Given the description of an element on the screen output the (x, y) to click on. 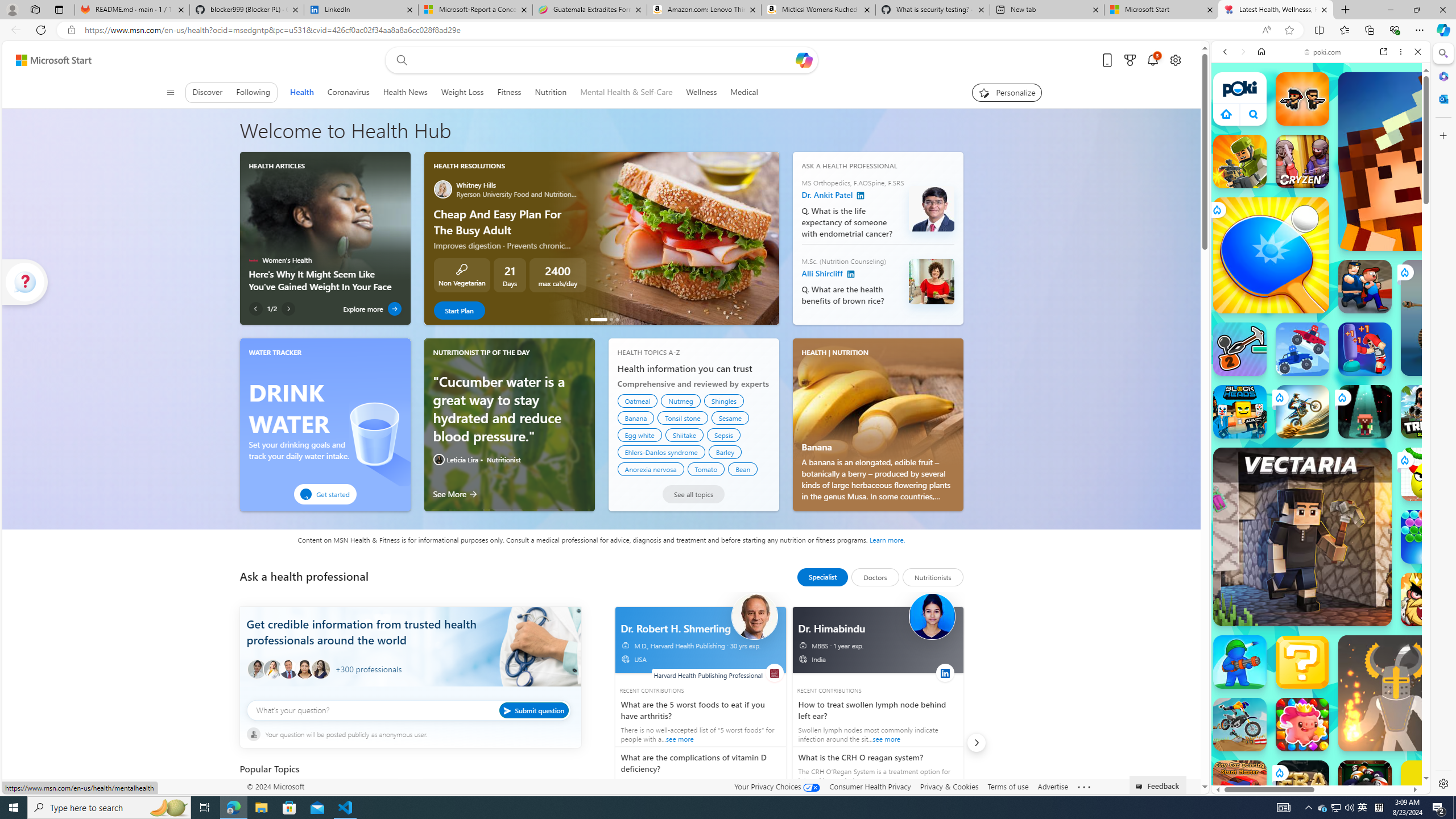
Combat Reloaded (1349, 580)
8 Ball Pool With Buddies (1364, 787)
Coronavirus (348, 92)
Ping Pong Go! (1270, 255)
Battle Wheels (1302, 348)
Stickman Climb 2 Stickman Climb 2 (1239, 348)
Wellness (700, 92)
website (774, 672)
Show More Car Games (1390, 268)
